Given the description of an element on the screen output the (x, y) to click on. 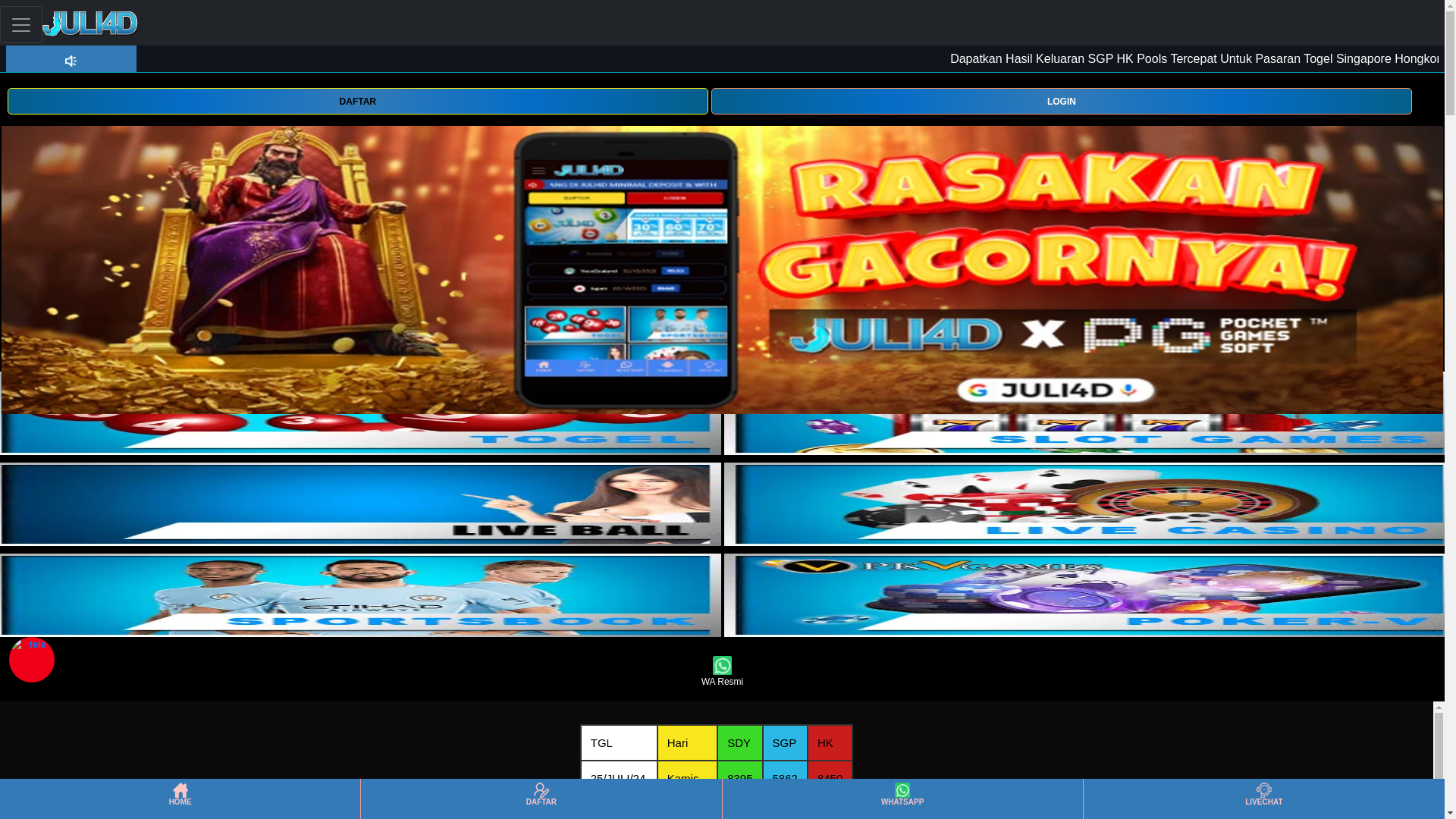
LOGIN (1061, 100)
DAFTAR (540, 798)
WA Resmi (722, 672)
HOME (179, 798)
WHATSAPP (901, 798)
DAFTAR (357, 100)
DAFTAR (357, 100)
LOGIN (1061, 100)
LIVECHAT (1263, 798)
